Given the description of an element on the screen output the (x, y) to click on. 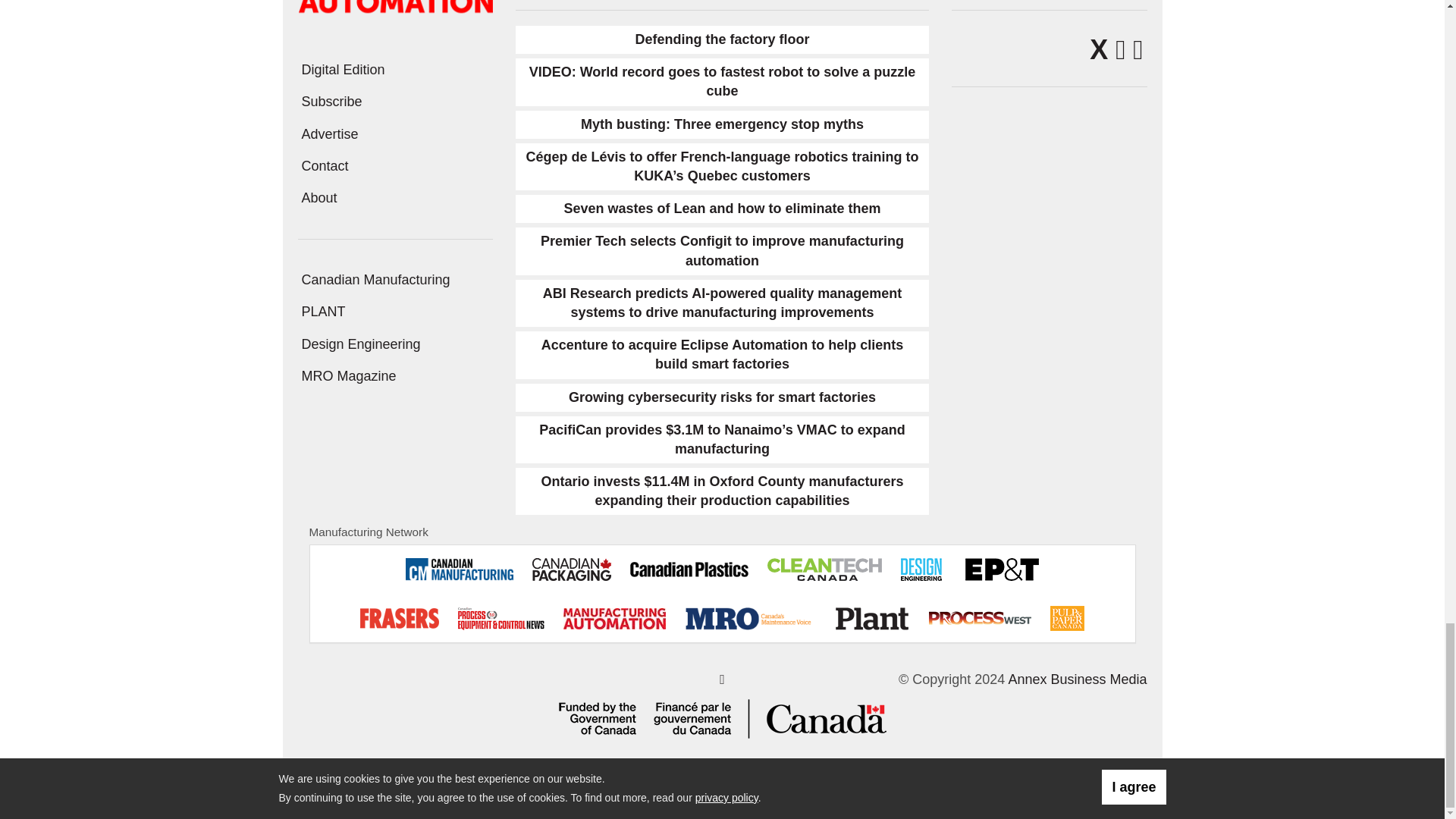
Annex Business Media (1077, 679)
